Given the description of an element on the screen output the (x, y) to click on. 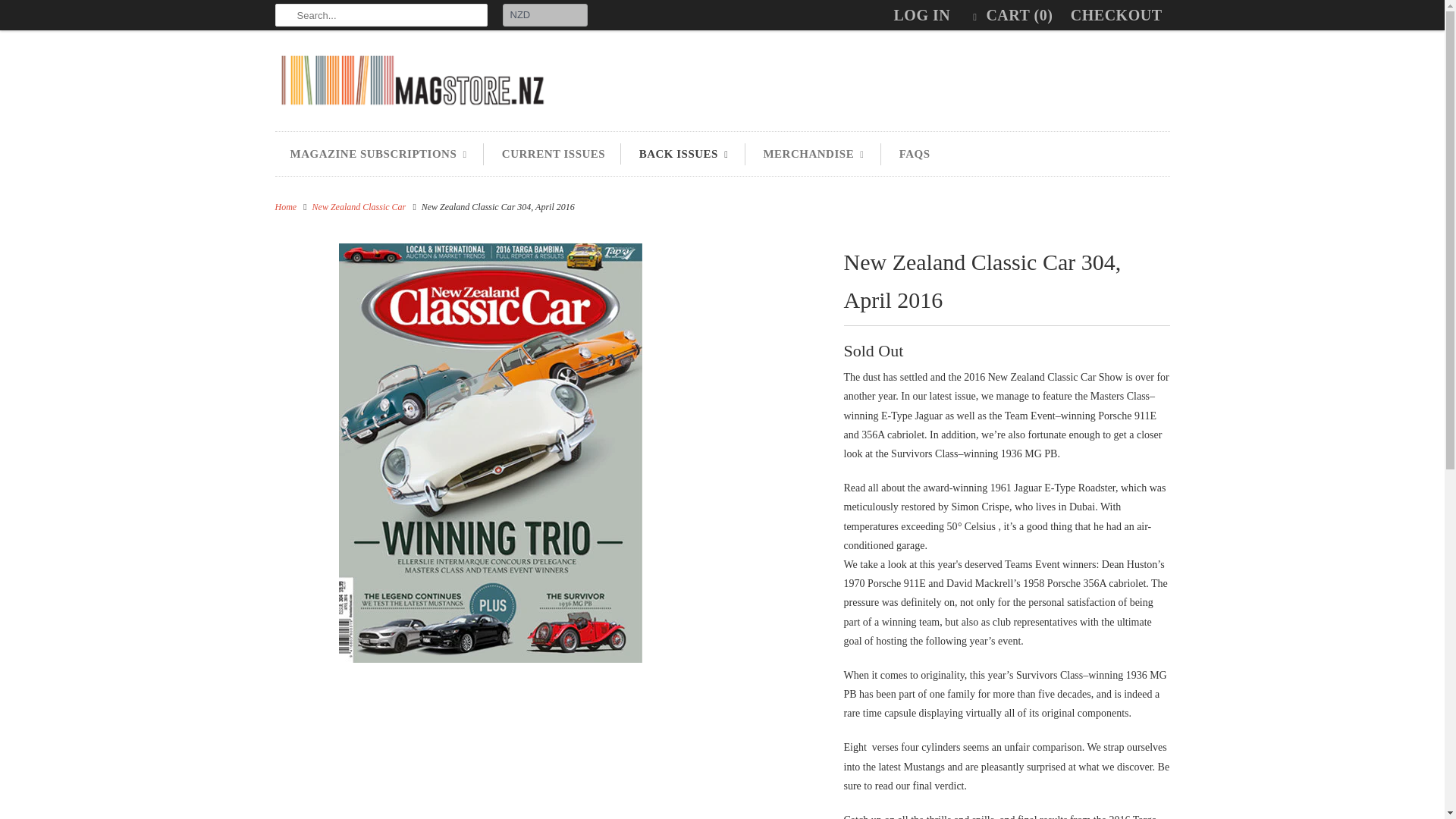
MERCHANDISE (813, 154)
New Zealand Classic Car (359, 206)
CURRENT ISSUES (553, 153)
MAGAZINE SUBSCRIPTIONS (378, 154)
BACK ISSUES (684, 154)
LOG IN (921, 15)
Home (286, 206)
FAQS (914, 153)
MagStore.nz (411, 84)
